Given the description of an element on the screen output the (x, y) to click on. 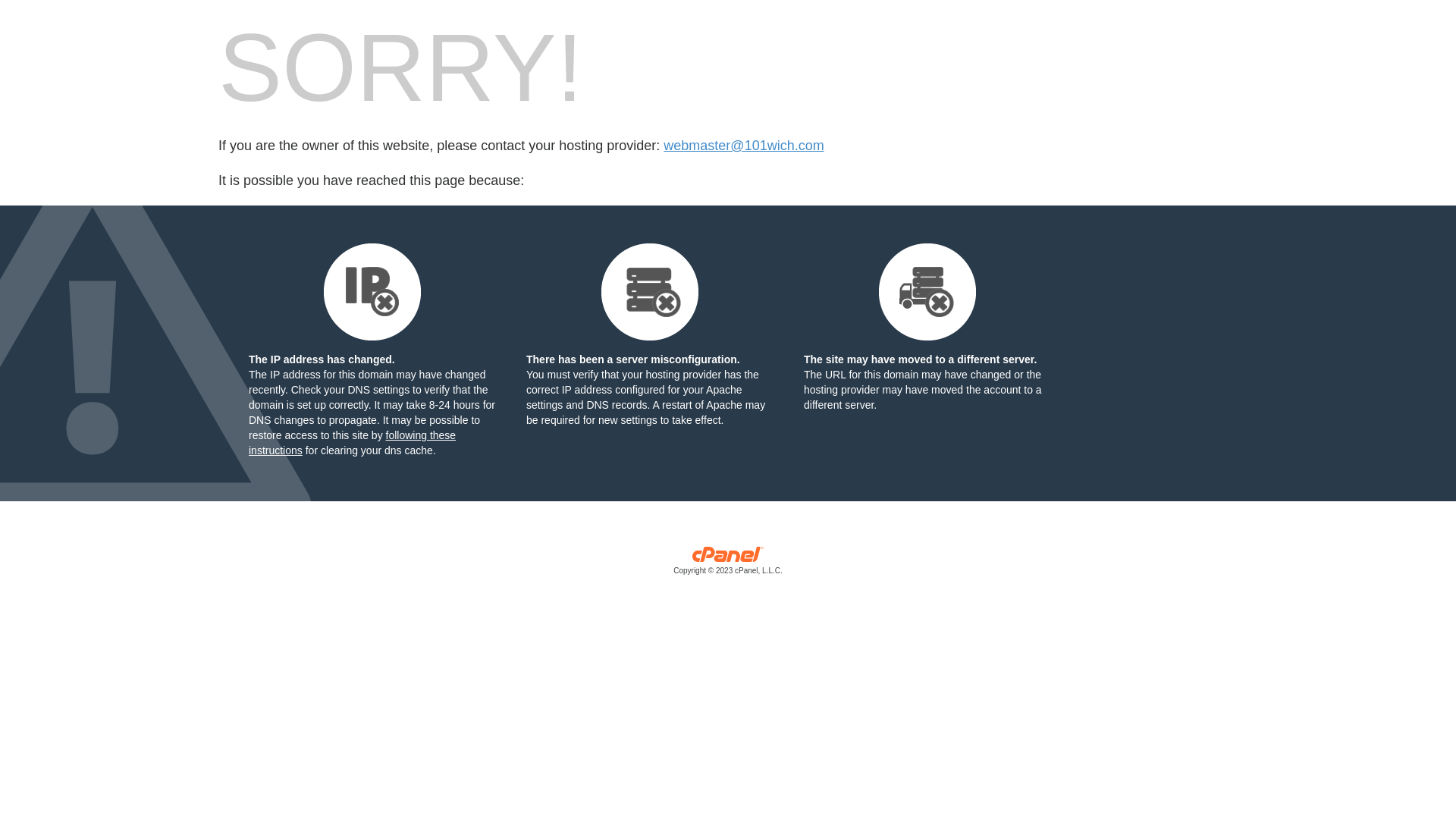
webmaster@101wich.com Element type: text (743, 145)
following these instructions Element type: text (351, 442)
